Given the description of an element on the screen output the (x, y) to click on. 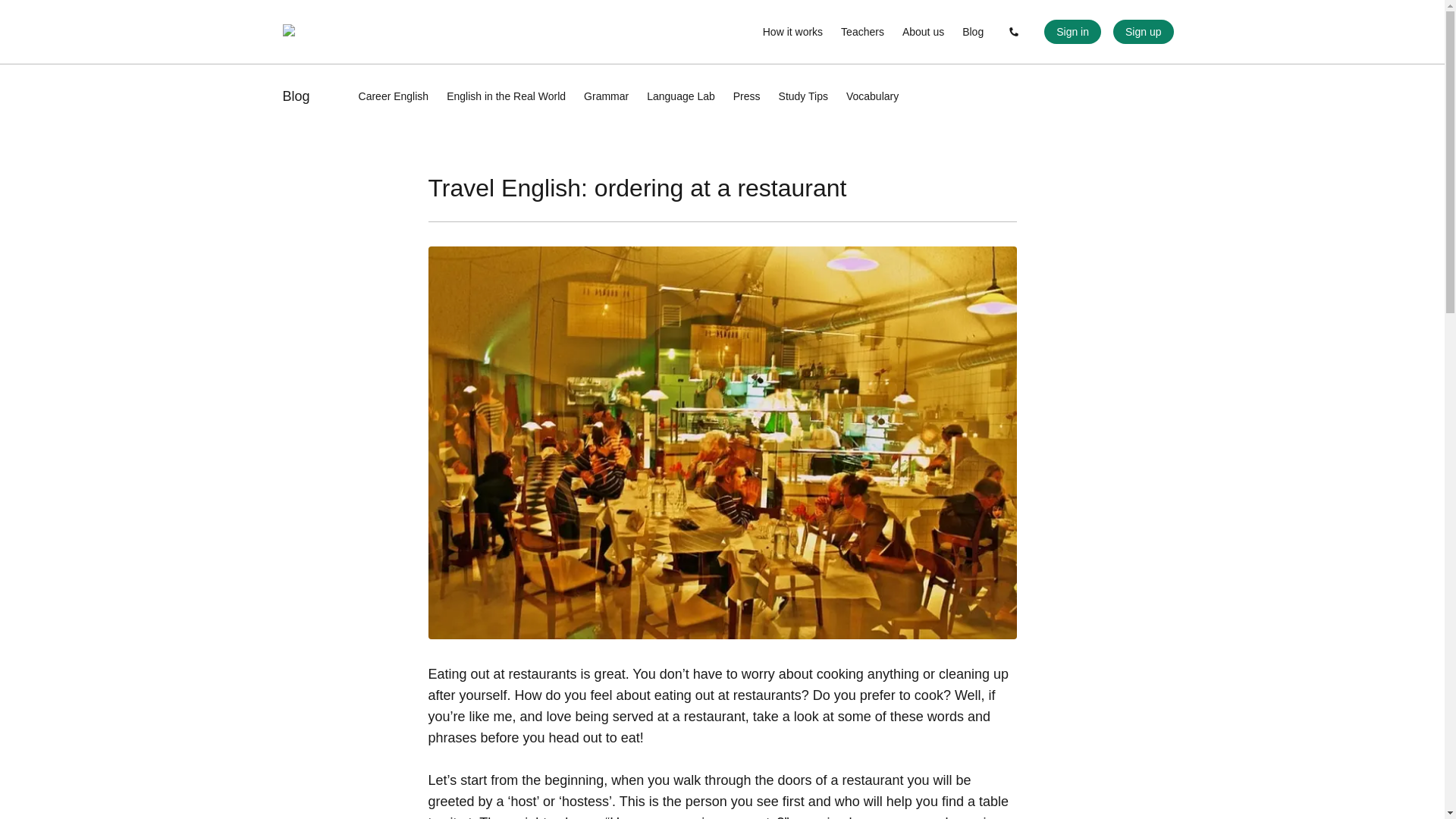
Study Tips (803, 95)
Vocabulary (871, 95)
Sign in (1071, 31)
Sign up (1143, 31)
Language Lab (680, 95)
English in the Real World (506, 95)
Career English (393, 95)
Teachers (862, 32)
Press (746, 95)
Grammar (605, 95)
